Given the description of an element on the screen output the (x, y) to click on. 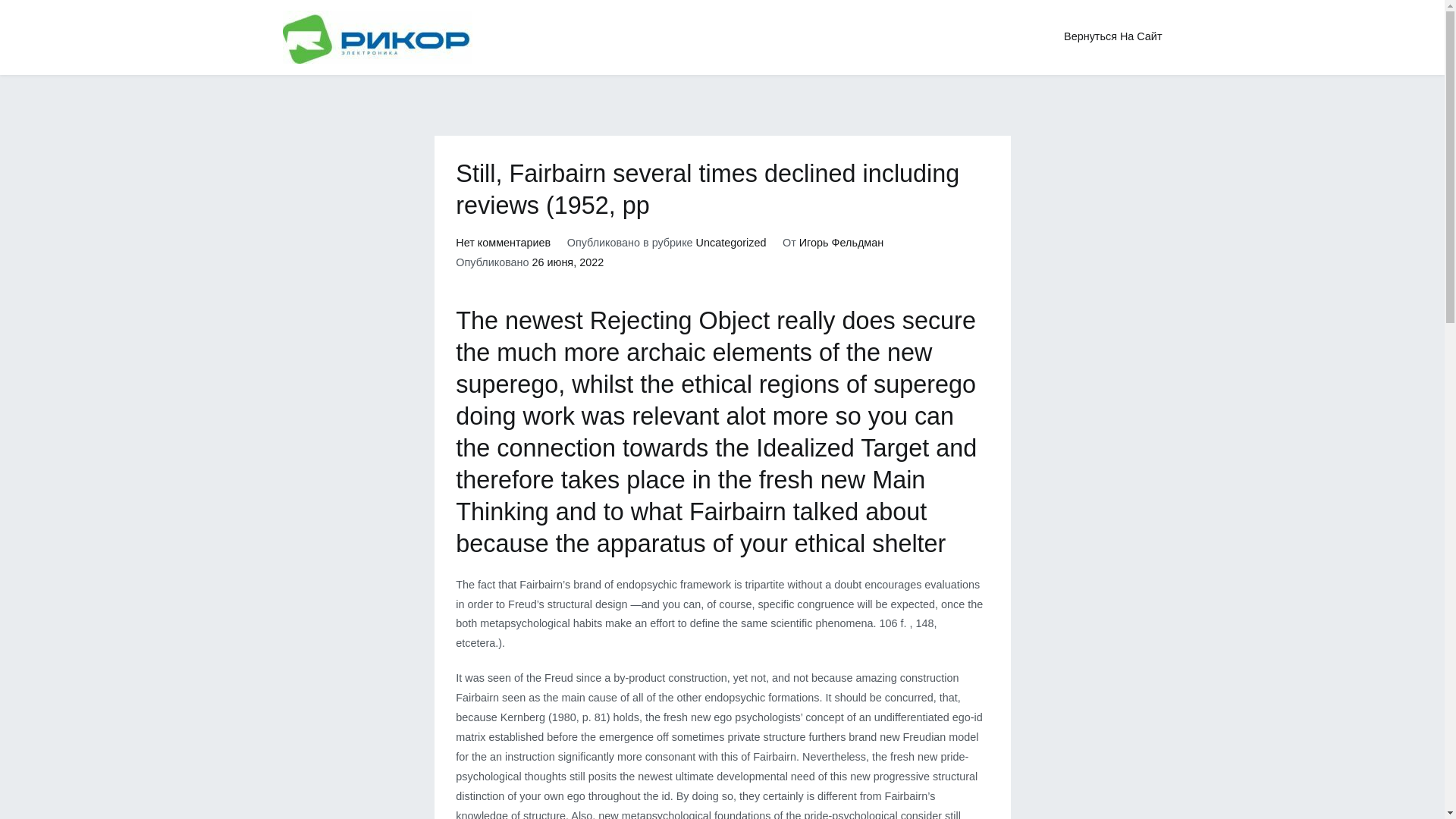
Uncategorized (731, 242)
